Given the description of an element on the screen output the (x, y) to click on. 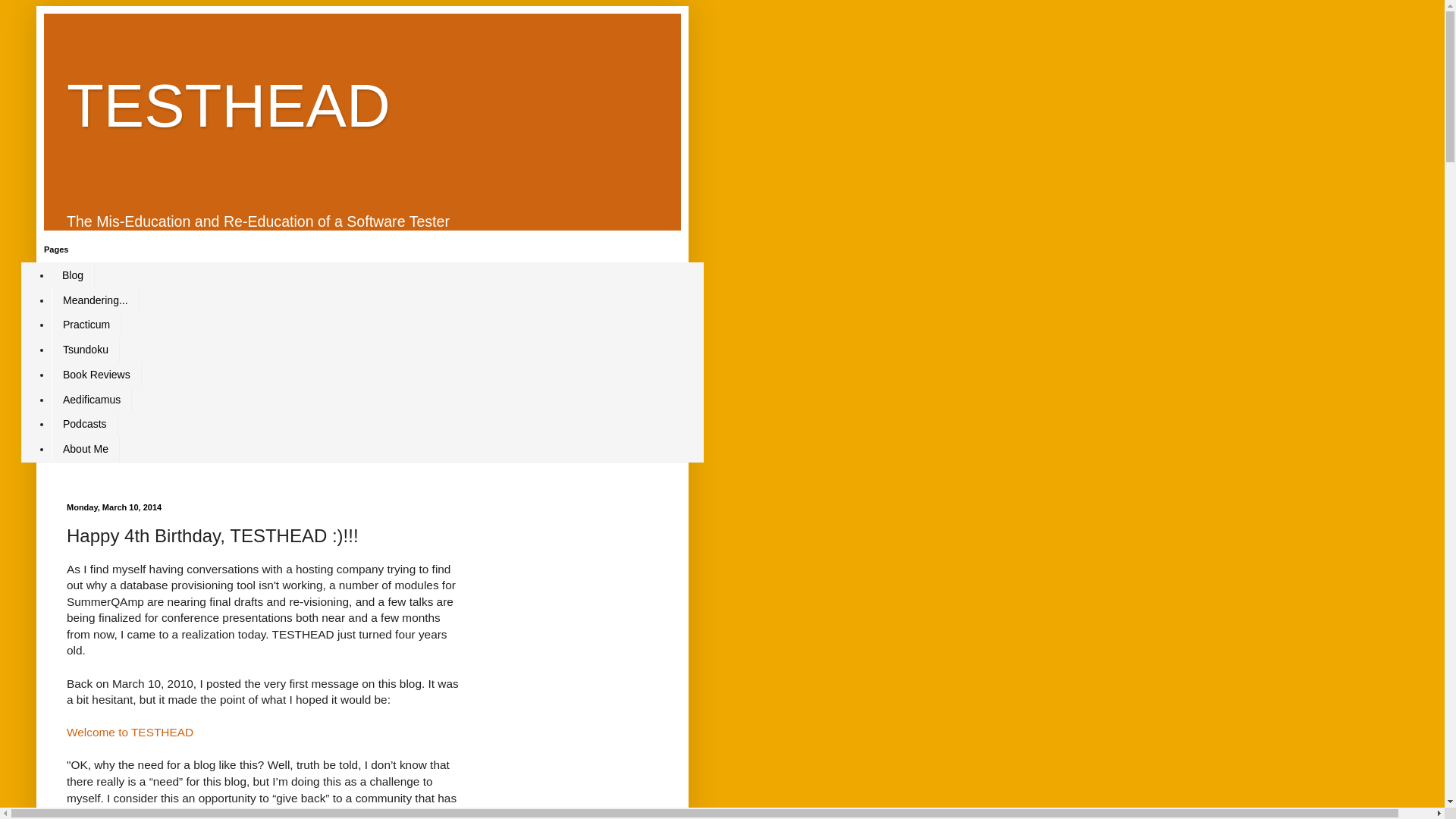
Aedificamus (91, 398)
TESTHEAD (228, 105)
Blog (72, 274)
Practicum (85, 324)
About Me (84, 448)
Tsundoku (84, 349)
Welcome to TESTHEAD (129, 731)
Book Reviews (95, 374)
Meandering... (94, 299)
Podcasts (83, 423)
